Given the description of an element on the screen output the (x, y) to click on. 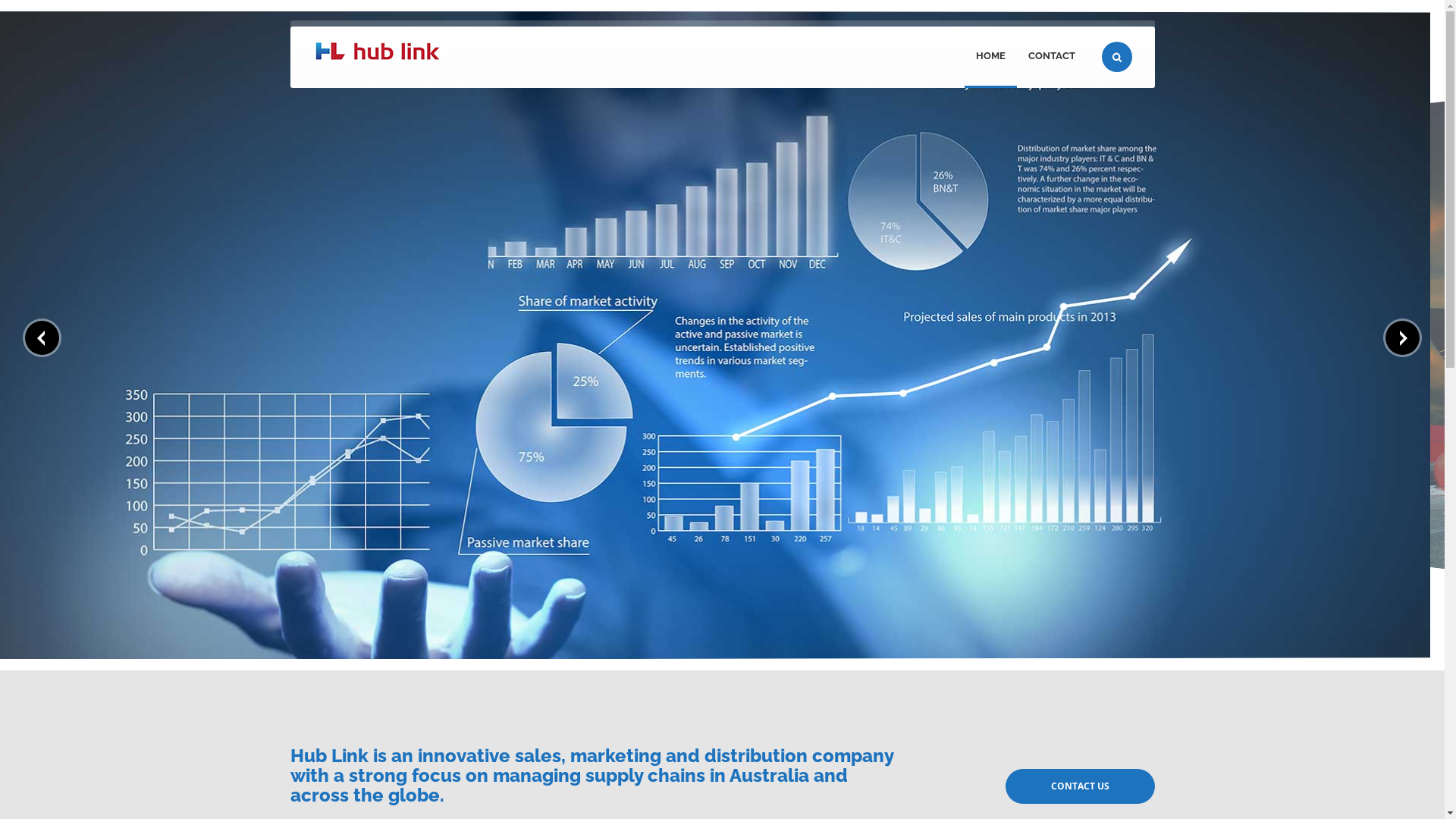
CONTACT Element type: text (1050, 56)
HOME Element type: text (990, 56)
CONTACT US Element type: text (1079, 785)
